Given the description of an element on the screen output the (x, y) to click on. 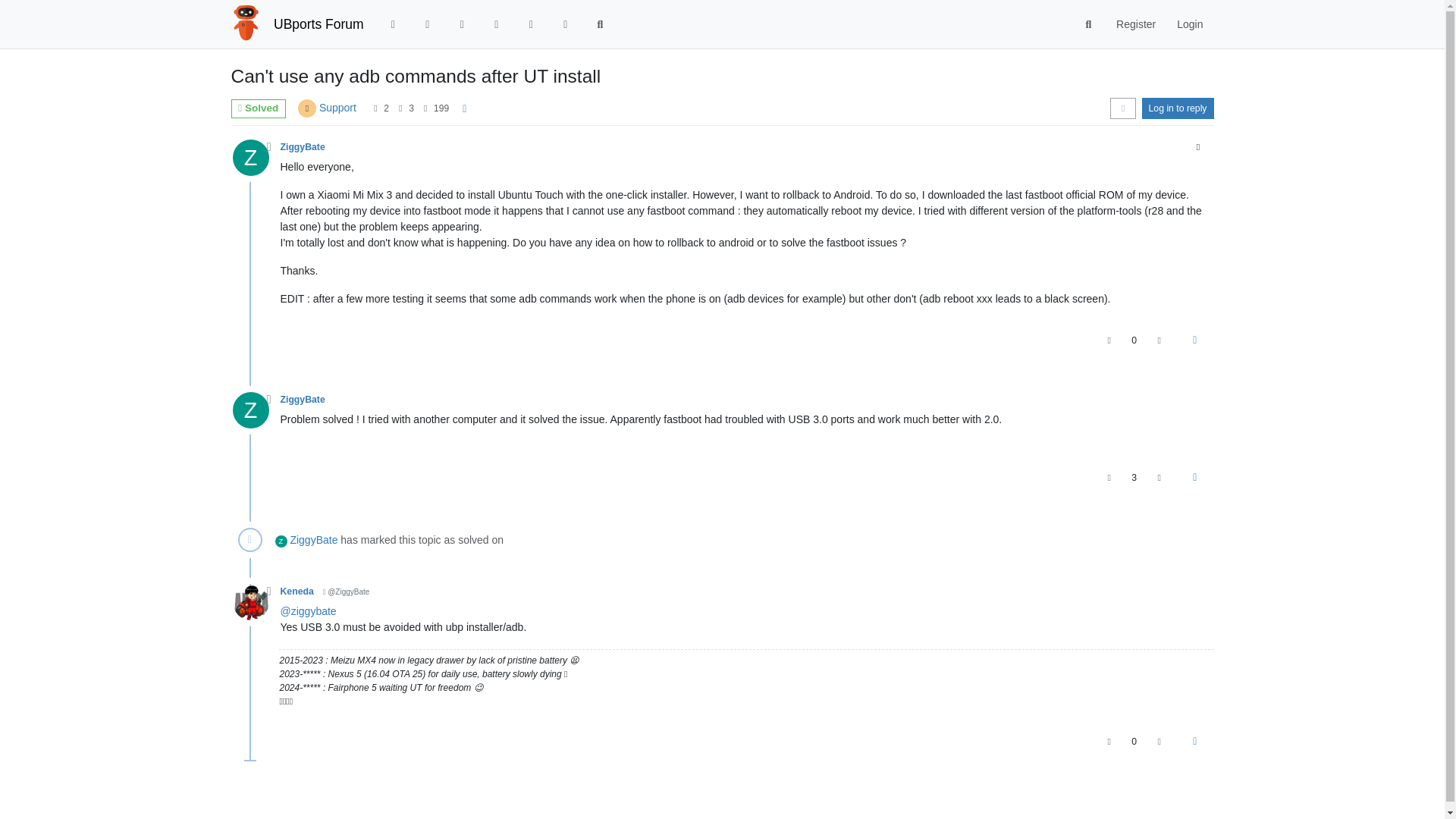
Popular (496, 24)
Log in to reply (1177, 107)
Categories (392, 24)
Support (337, 107)
ZiggyBate (302, 146)
Users (530, 24)
Posts (400, 108)
Posters (375, 108)
Login (1189, 24)
UBports Forum (318, 24)
Tags (462, 24)
Recent (427, 24)
Search (1088, 24)
Sort by (1122, 107)
Z (255, 161)
